Given the description of an element on the screen output the (x, y) to click on. 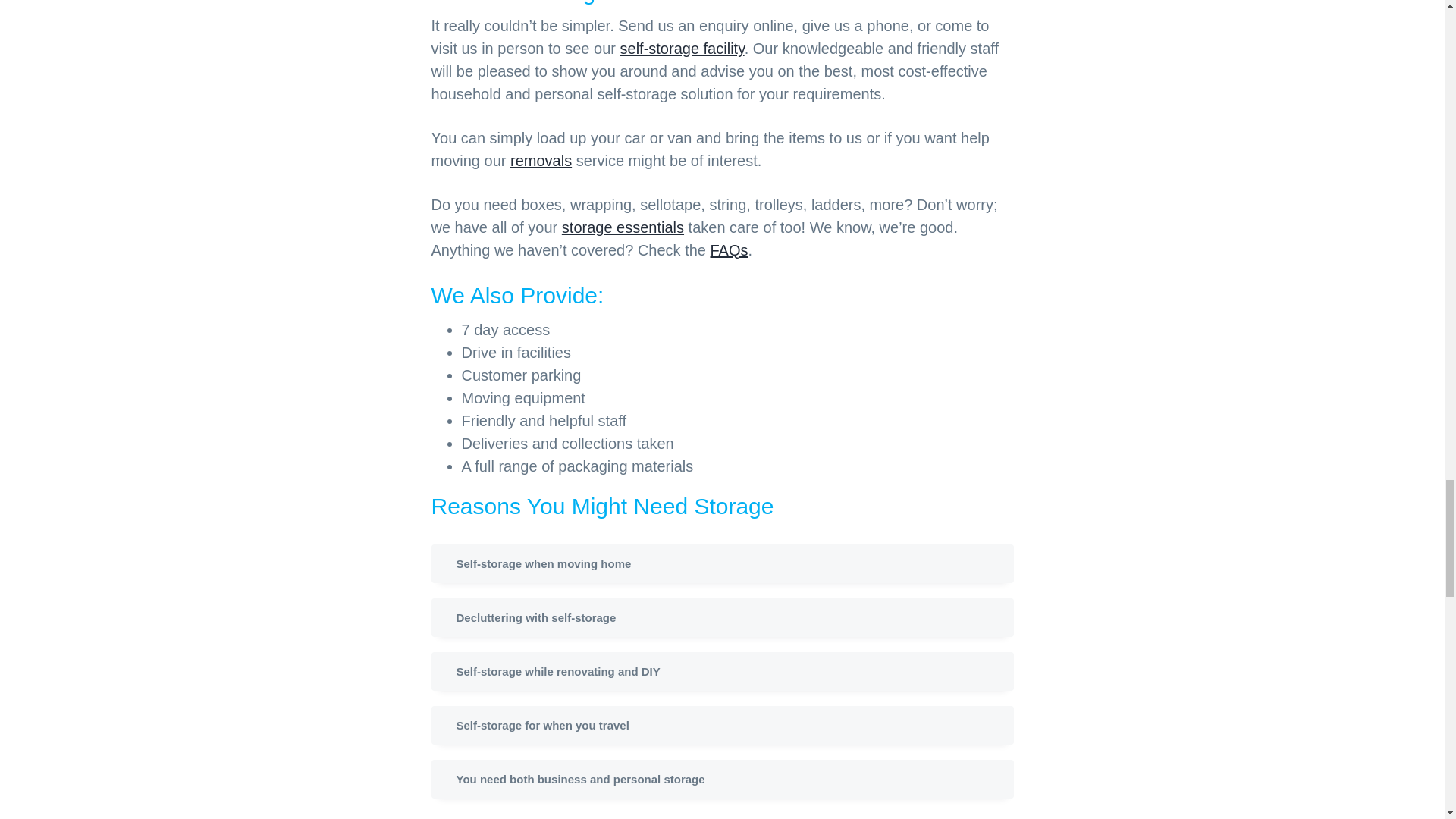
storage essentials (623, 227)
FAQs (729, 249)
removals (541, 160)
Self-storage when moving home (721, 563)
self-storage facility (682, 48)
